Given the description of an element on the screen output the (x, y) to click on. 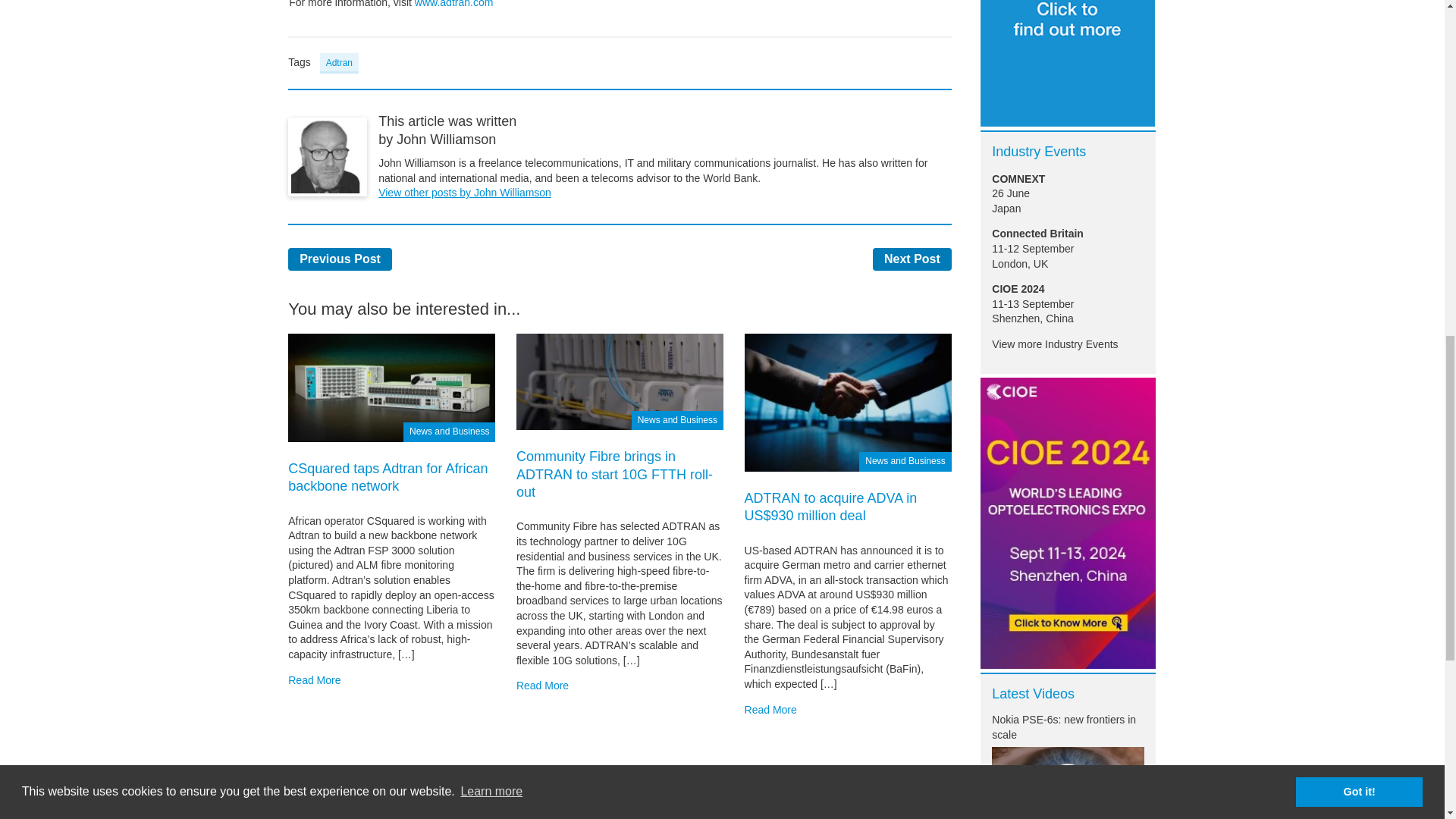
Read More (314, 680)
CSquared taps Adtran for African backbone network (387, 477)
CSquared taps Adtran for African backbone network (391, 386)
View other posts by John Williamson (464, 192)
Community Fibre brings in ADTRAN to start 10G FTTH roll-out (619, 380)
Adtran (339, 62)
Next Post (912, 259)
Community Fibre brings in ADTRAN to start 10G FTTH roll-out (614, 473)
www.adtran.com (453, 5)
Previous Post (339, 259)
